Given the description of an element on the screen output the (x, y) to click on. 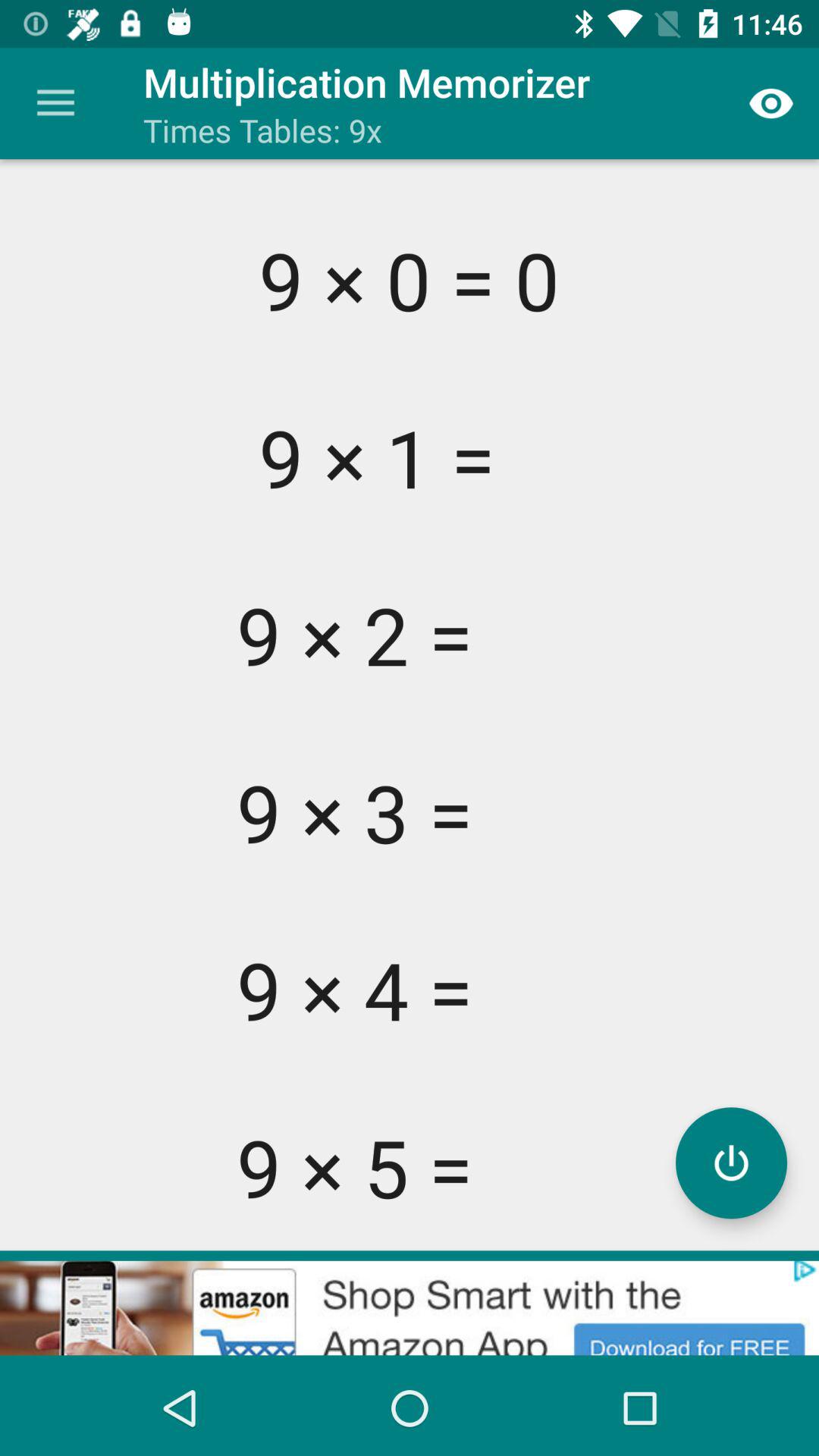
go to top right corner (771, 103)
click on the power onoff icon (731, 1162)
